Given the description of an element on the screen output the (x, y) to click on. 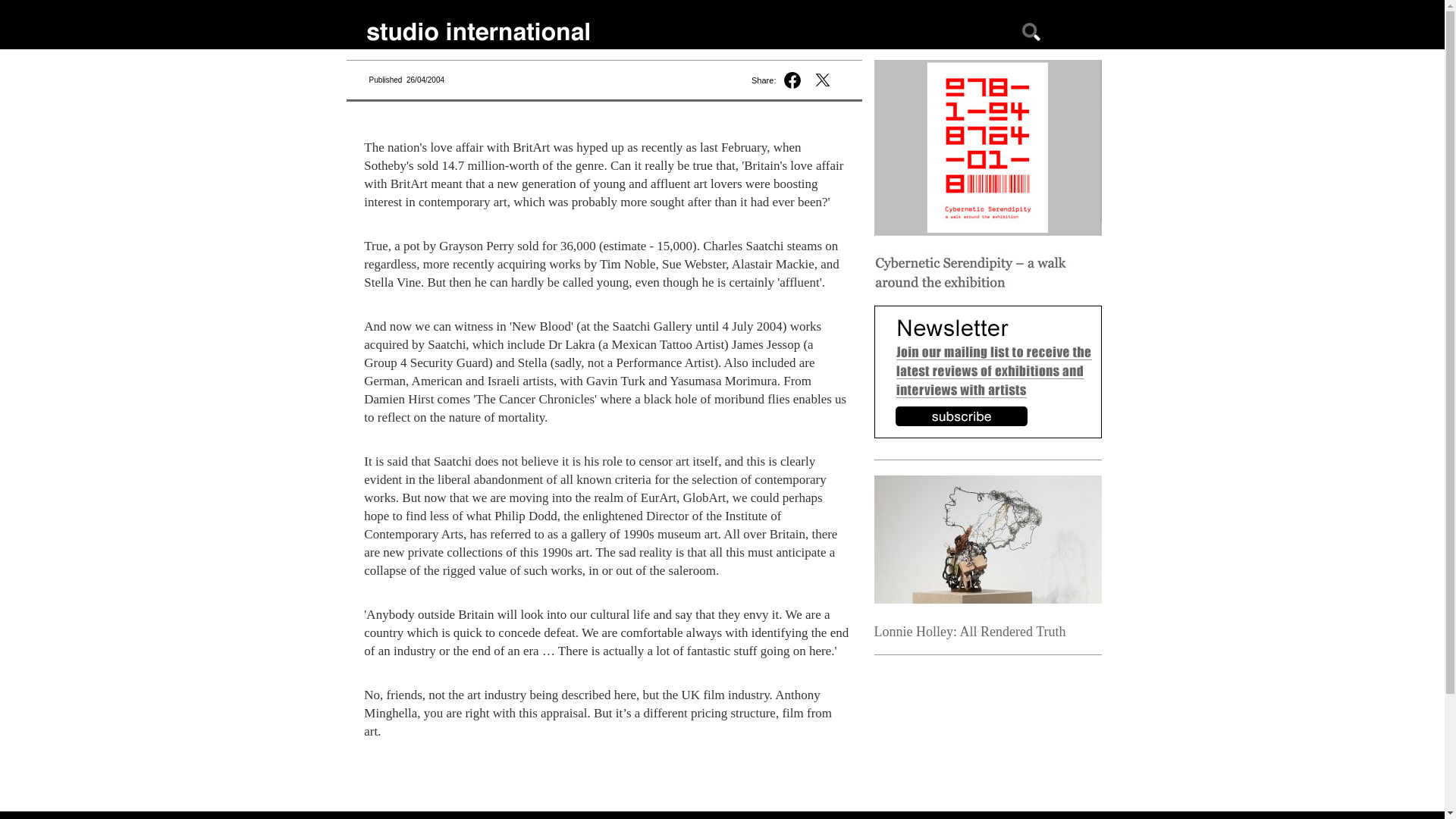
Lonnie Holley: All Rendered Truth (969, 631)
